Given the description of an element on the screen output the (x, y) to click on. 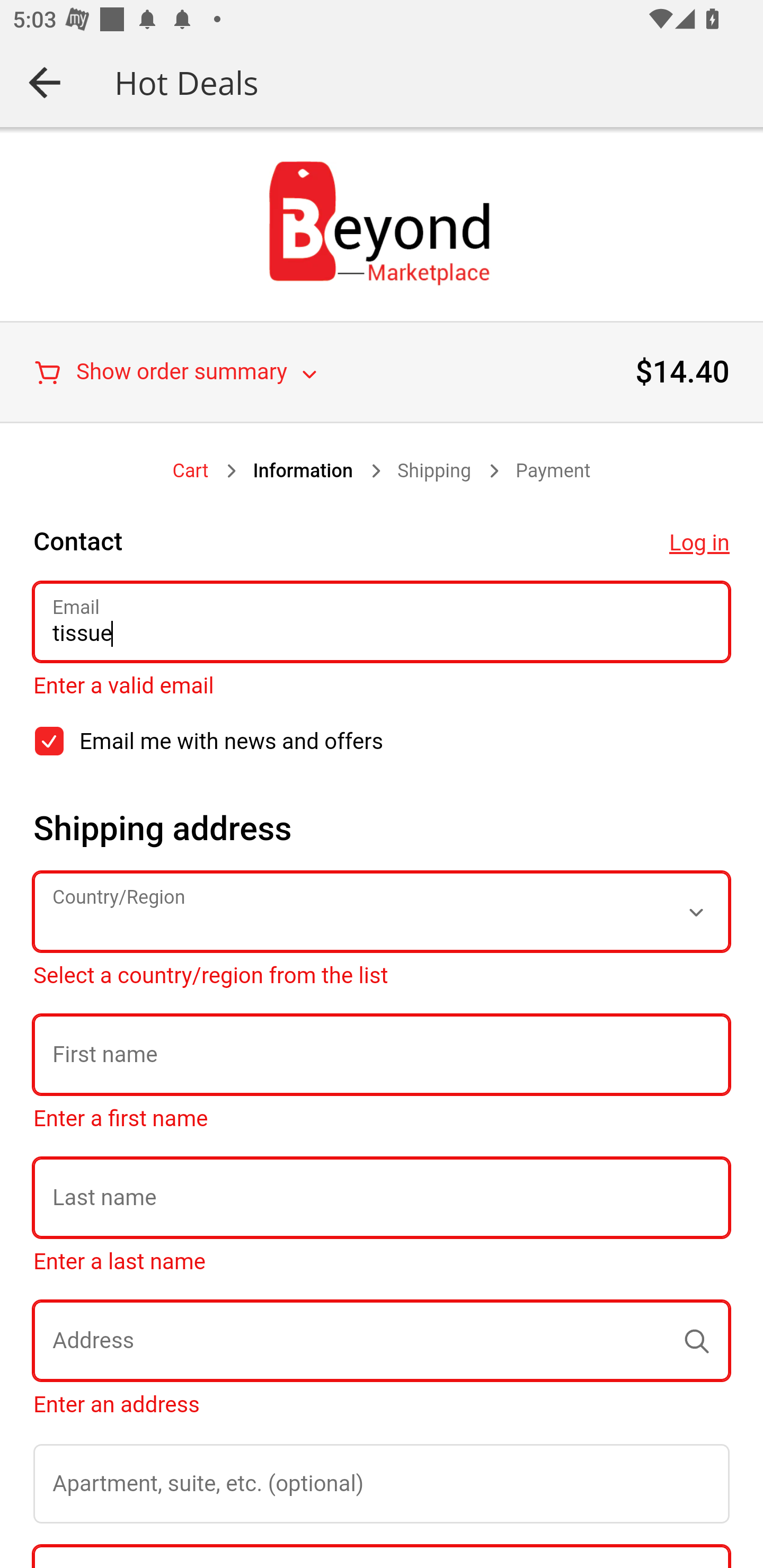
Navigate up (44, 82)
brandsandbeyond (381, 222)
Show order summary $14.40 (381, 372)
Breadcrumb Cart Cart Information Shipping Payment (381, 471)
Cart (190, 470)
Log in (699, 543)
tissue (381, 622)
Email me with news and offers (48, 740)
Country/Region (381, 910)
